Given the description of an element on the screen output the (x, y) to click on. 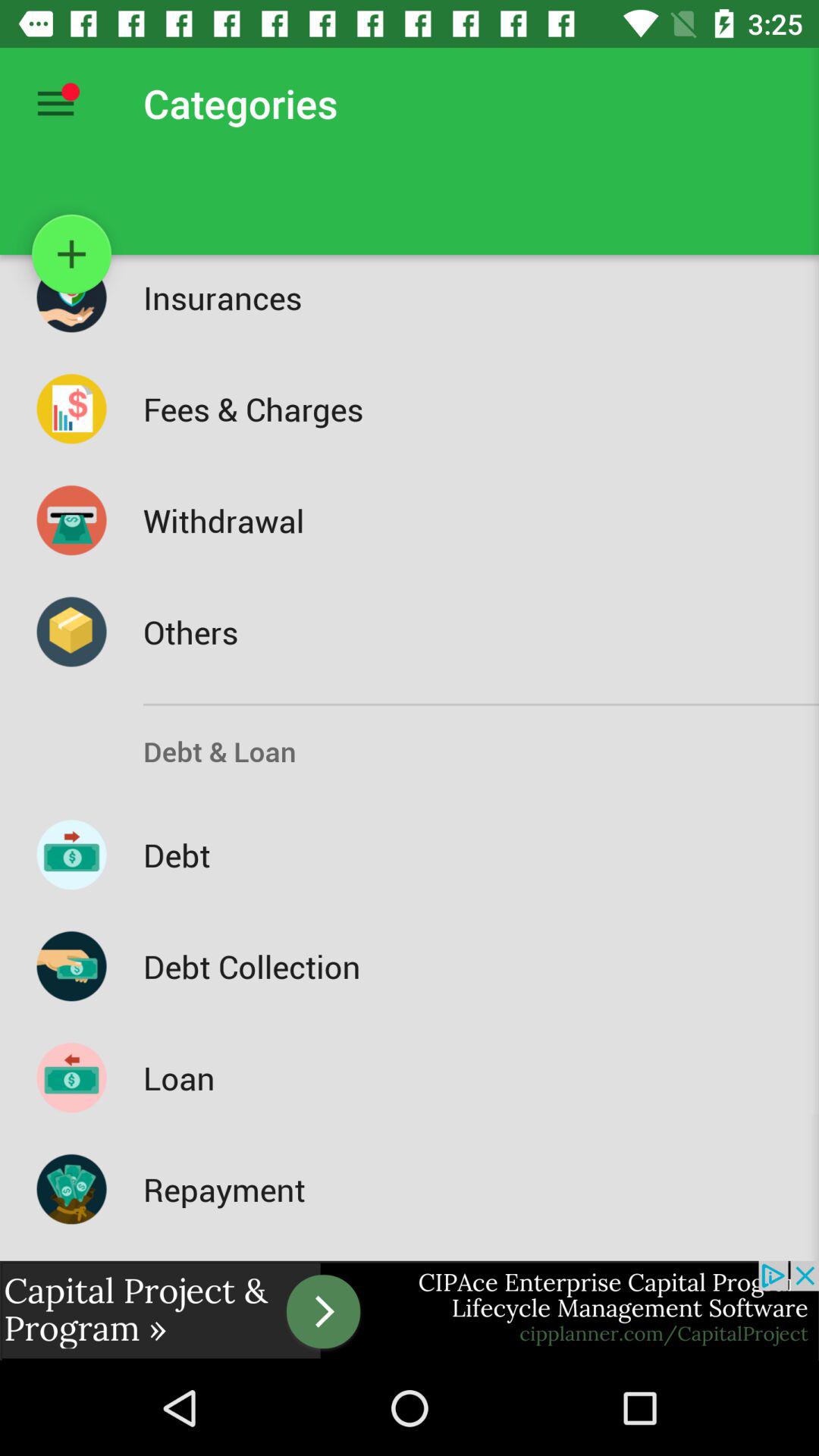
menu contents (55, 103)
